Given the description of an element on the screen output the (x, y) to click on. 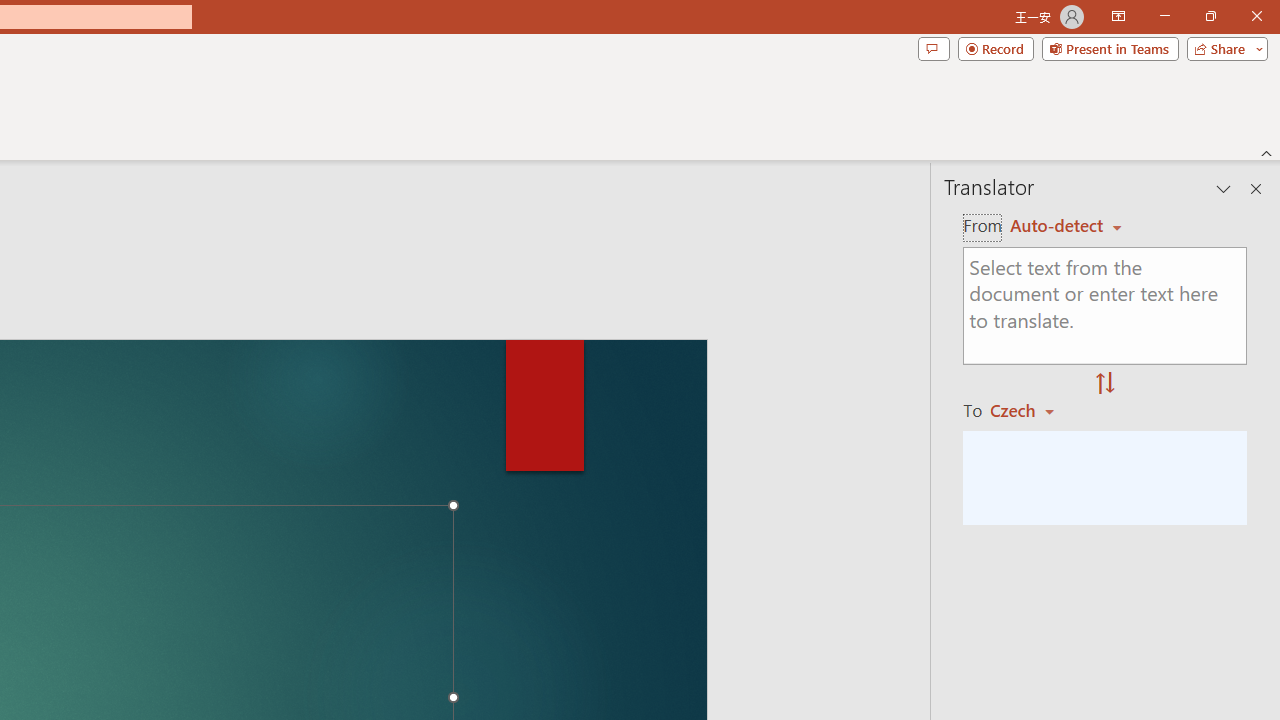
Czech (1030, 409)
Auto-detect (1066, 225)
